Given the description of an element on the screen output the (x, y) to click on. 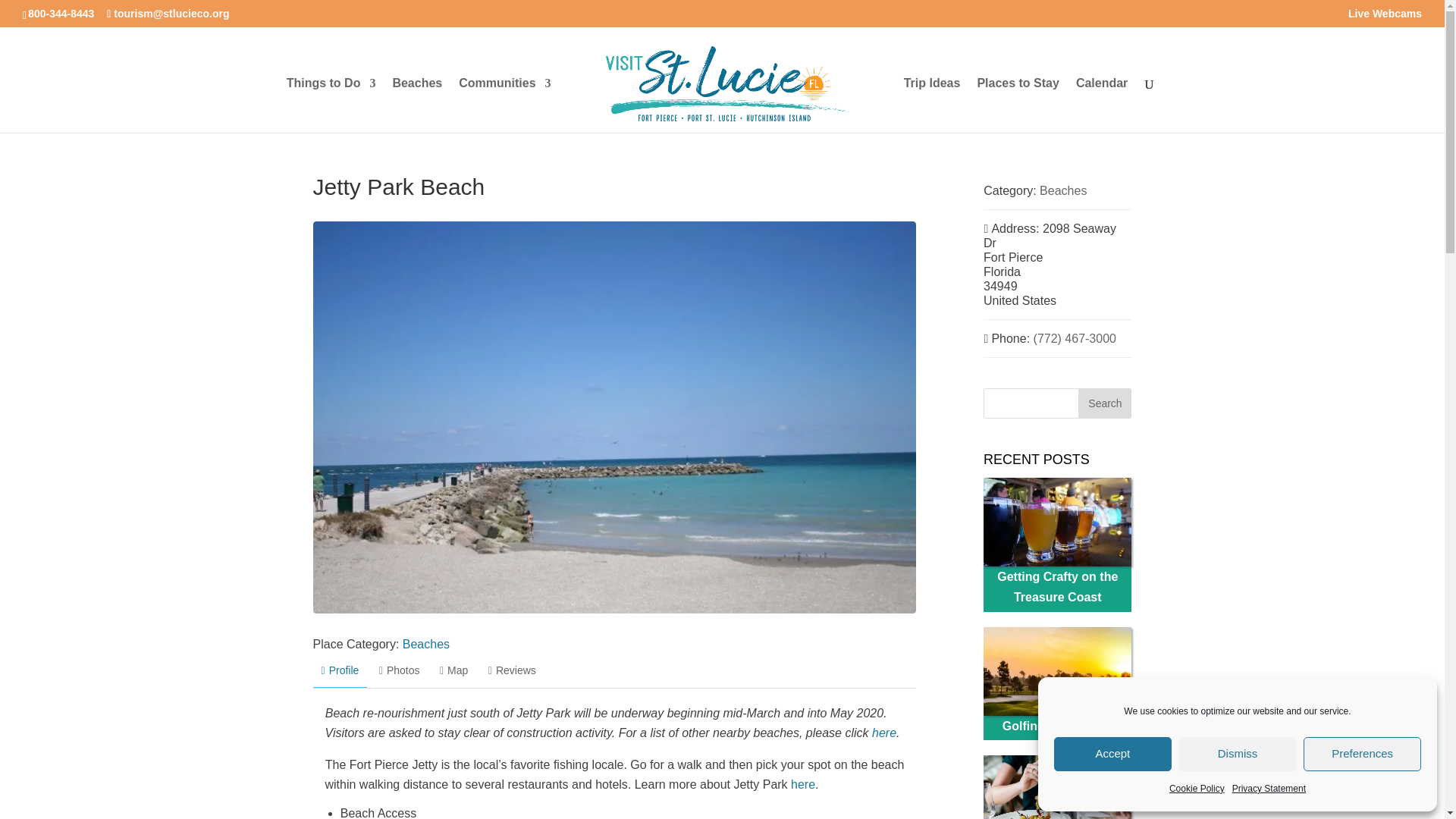
Cookie Policy (1196, 788)
Live Webcams (1385, 16)
Top Places to EAT! (1057, 787)
Communities (504, 104)
Accept (1113, 754)
Preferences (1362, 754)
Privacy Statement (1268, 788)
Search (1104, 403)
Things to Do (330, 104)
Beaches (416, 104)
Golfing in Paradise (1057, 671)
Dismiss (1238, 754)
Getting Crafty on the Treasure Coast (1057, 521)
